Given the description of an element on the screen output the (x, y) to click on. 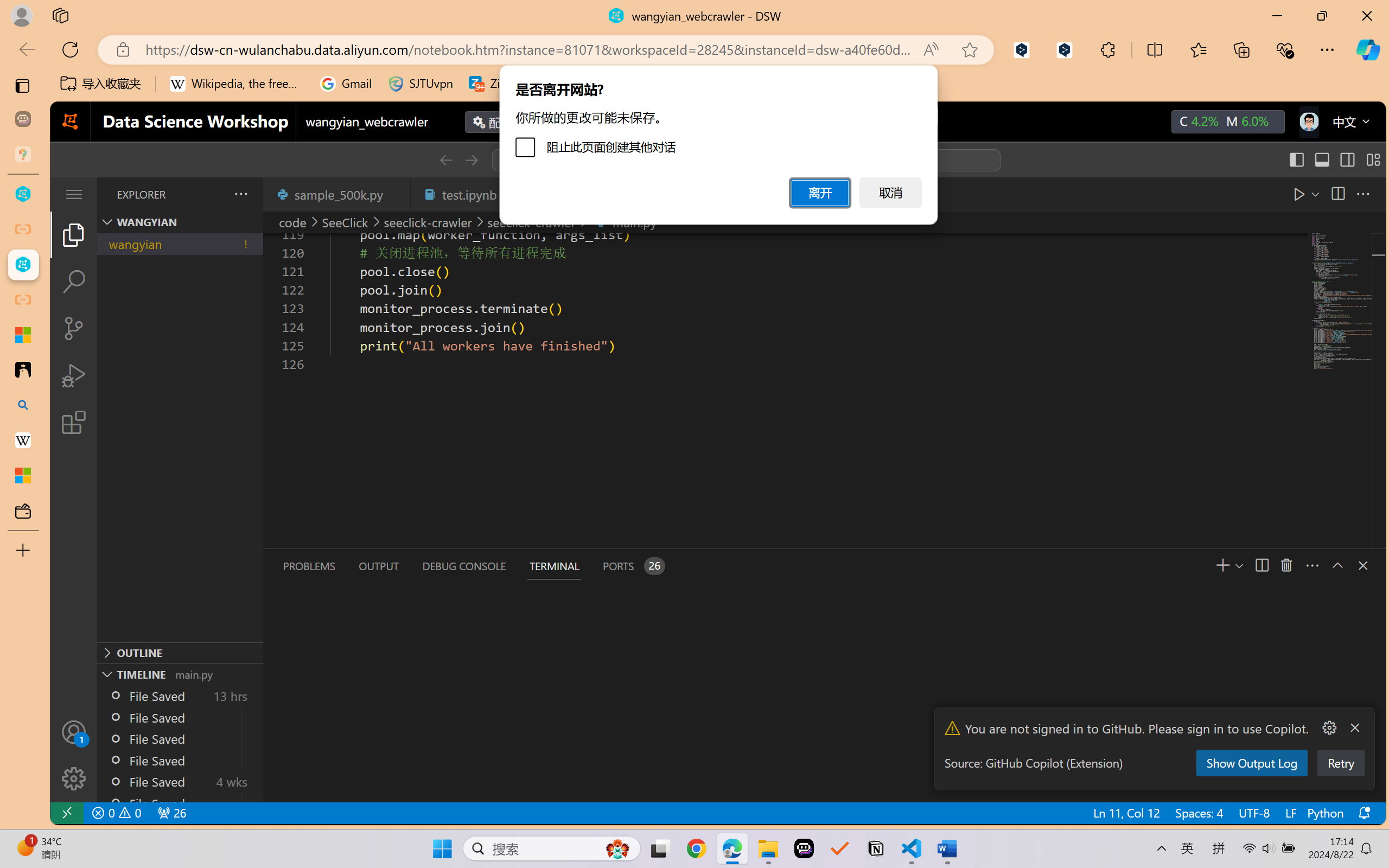
Notification Actions (1341, 727)
UTF-8 (1253, 812)
Debug Console (Ctrl+Shift+Y) (463, 565)
wangyian_webcrawler - DSW (22, 264)
Extensions (Ctrl+Shift+X) (73, 422)
Toggle Secondary Side Bar (Ctrl+Alt+B) (1347, 159)
Google Chrome (696, 848)
wangyian_dsw - DSW (22, 194)
